Given the description of an element on the screen output the (x, y) to click on. 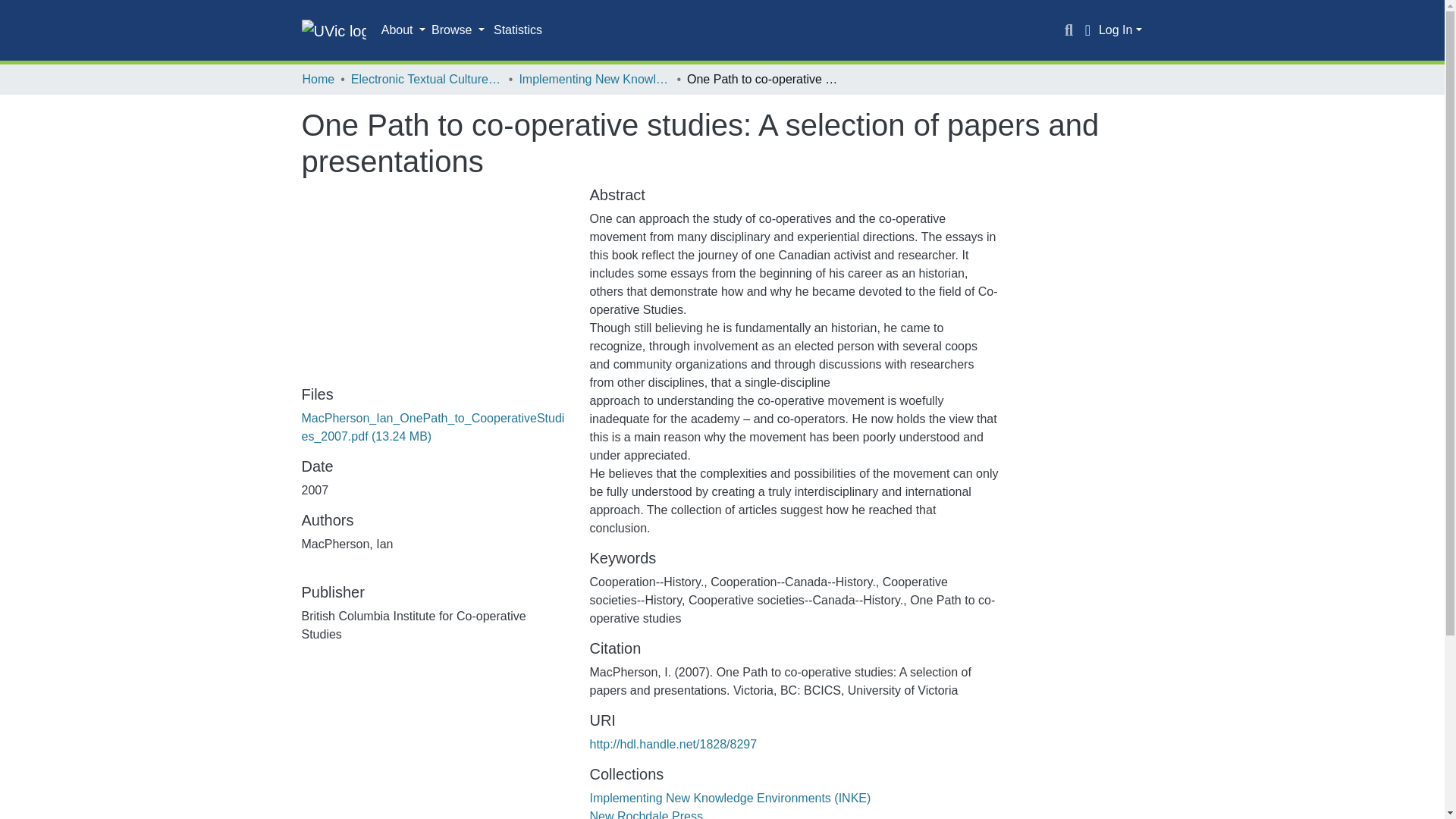
Language switch (1087, 30)
Log In (1119, 29)
Search (1068, 30)
Statistics (517, 30)
Browse (457, 30)
New Rochdale Press (645, 814)
About (403, 30)
Home (317, 79)
Statistics (517, 30)
